Given the description of an element on the screen output the (x, y) to click on. 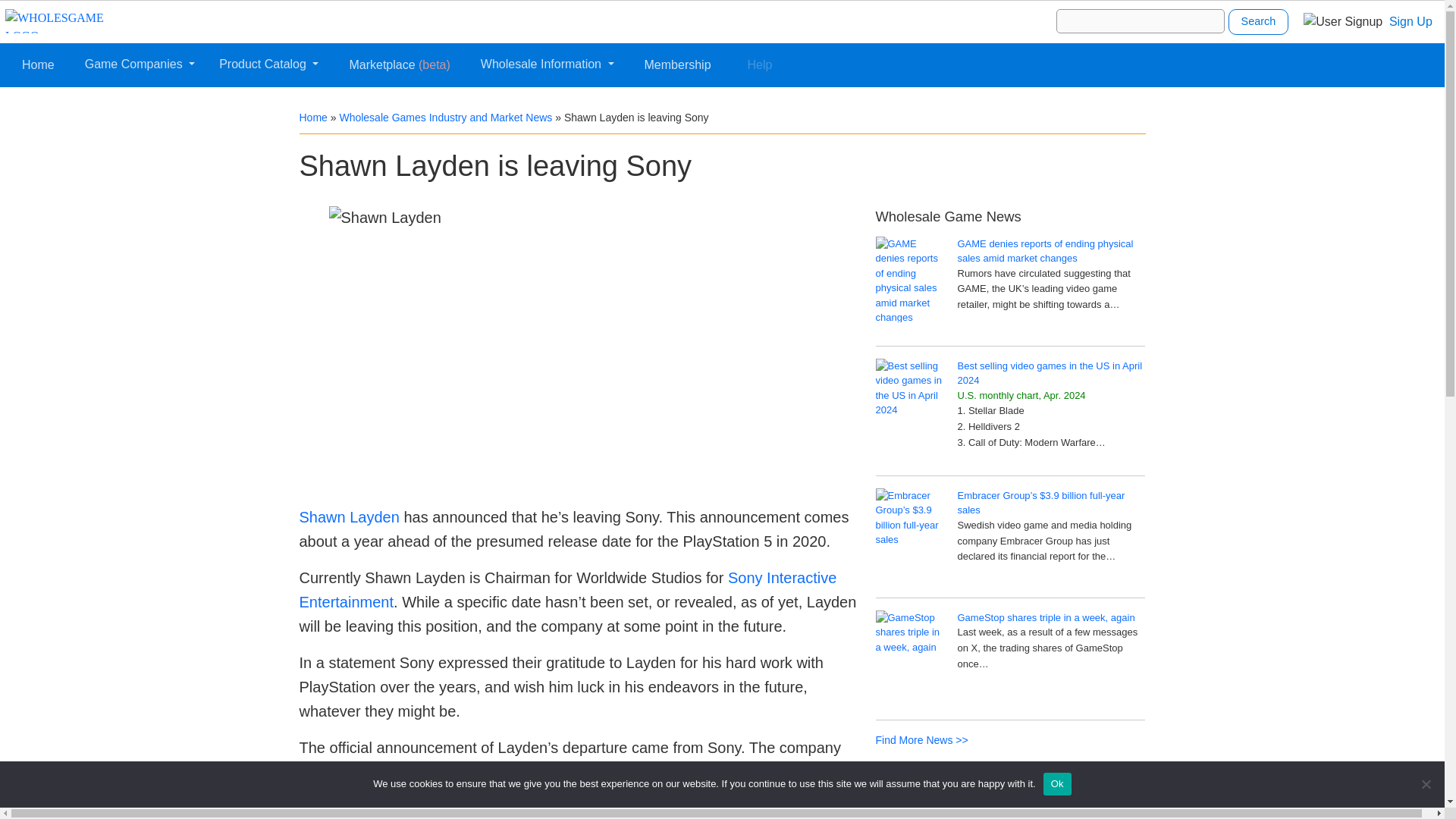
Home (312, 117)
Wholesale Games Industry and Market News (445, 117)
Wholesale Information (547, 63)
Search (1258, 22)
Sony Interactive Entertainment (566, 589)
Search (1258, 22)
Shawn Layden (348, 516)
Game Companies (139, 63)
Membership (678, 65)
Help (759, 65)
Product Catalog (268, 63)
Home (38, 65)
No (1425, 783)
